Given the description of an element on the screen output the (x, y) to click on. 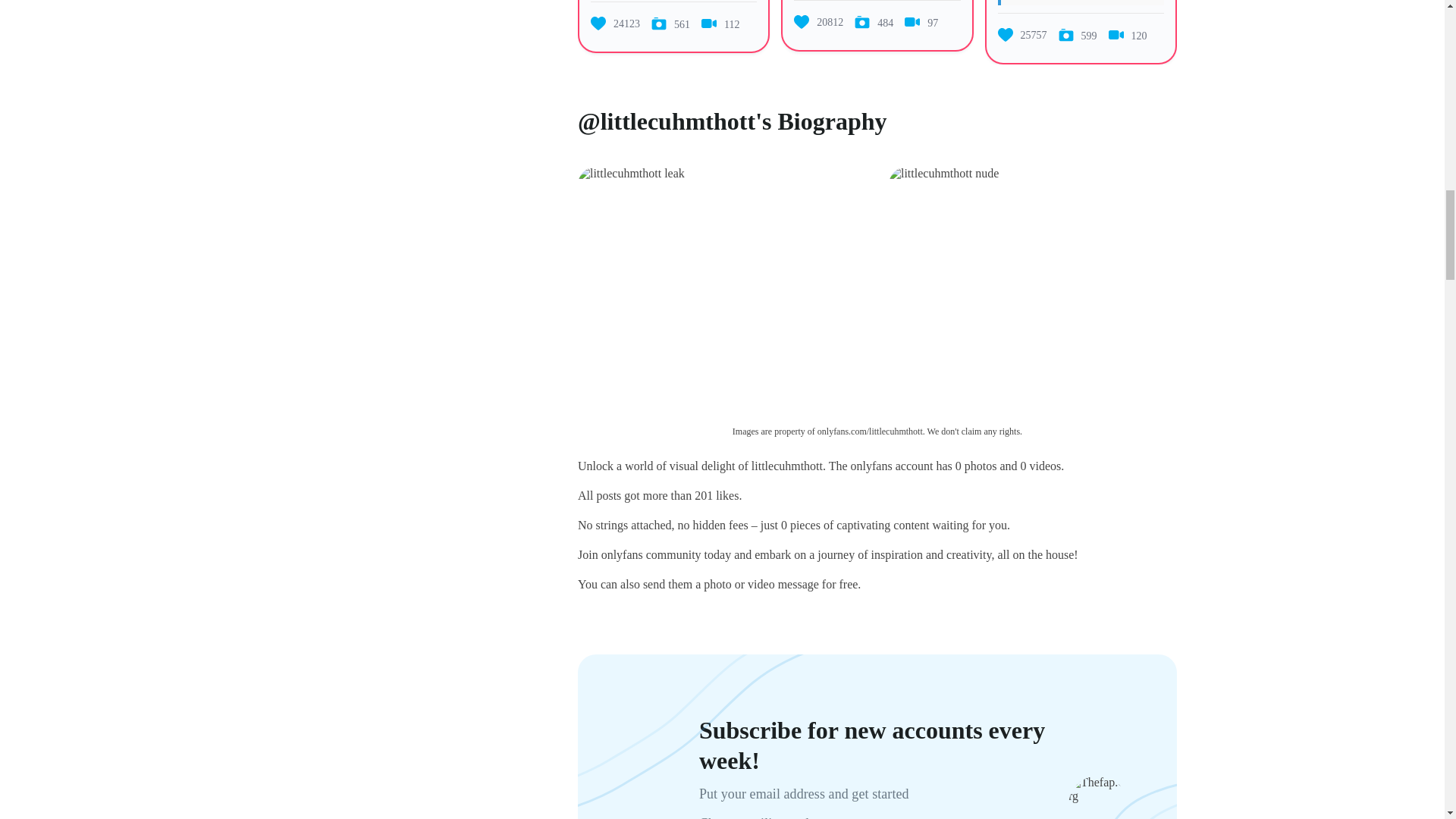
littlecuhmthott leak (631, 173)
Thefap.Org (1097, 789)
littlecuhmthott nude (943, 173)
